Given the description of an element on the screen output the (x, y) to click on. 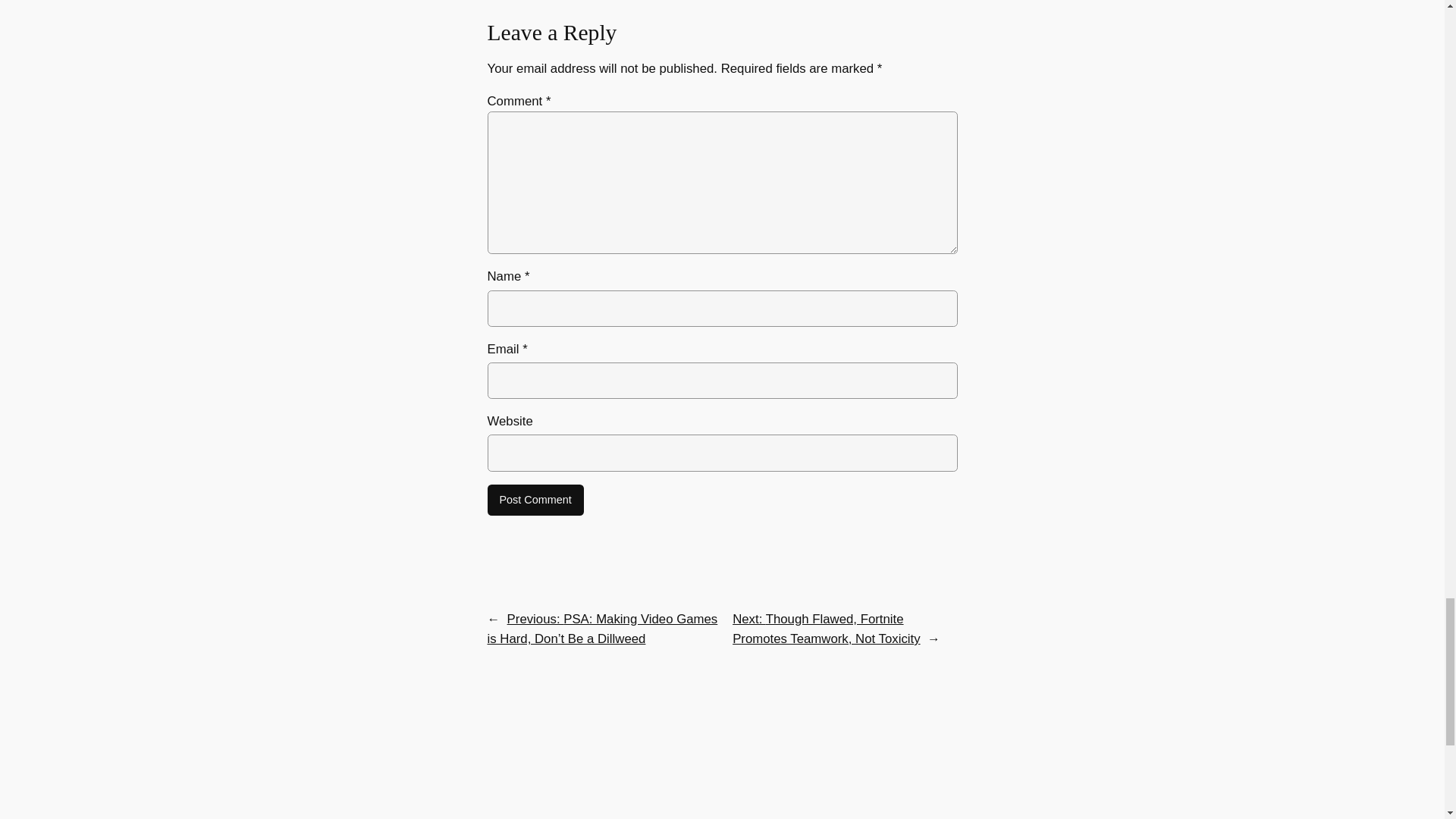
Post Comment (534, 500)
Post Comment (534, 500)
